Given the description of an element on the screen output the (x, y) to click on. 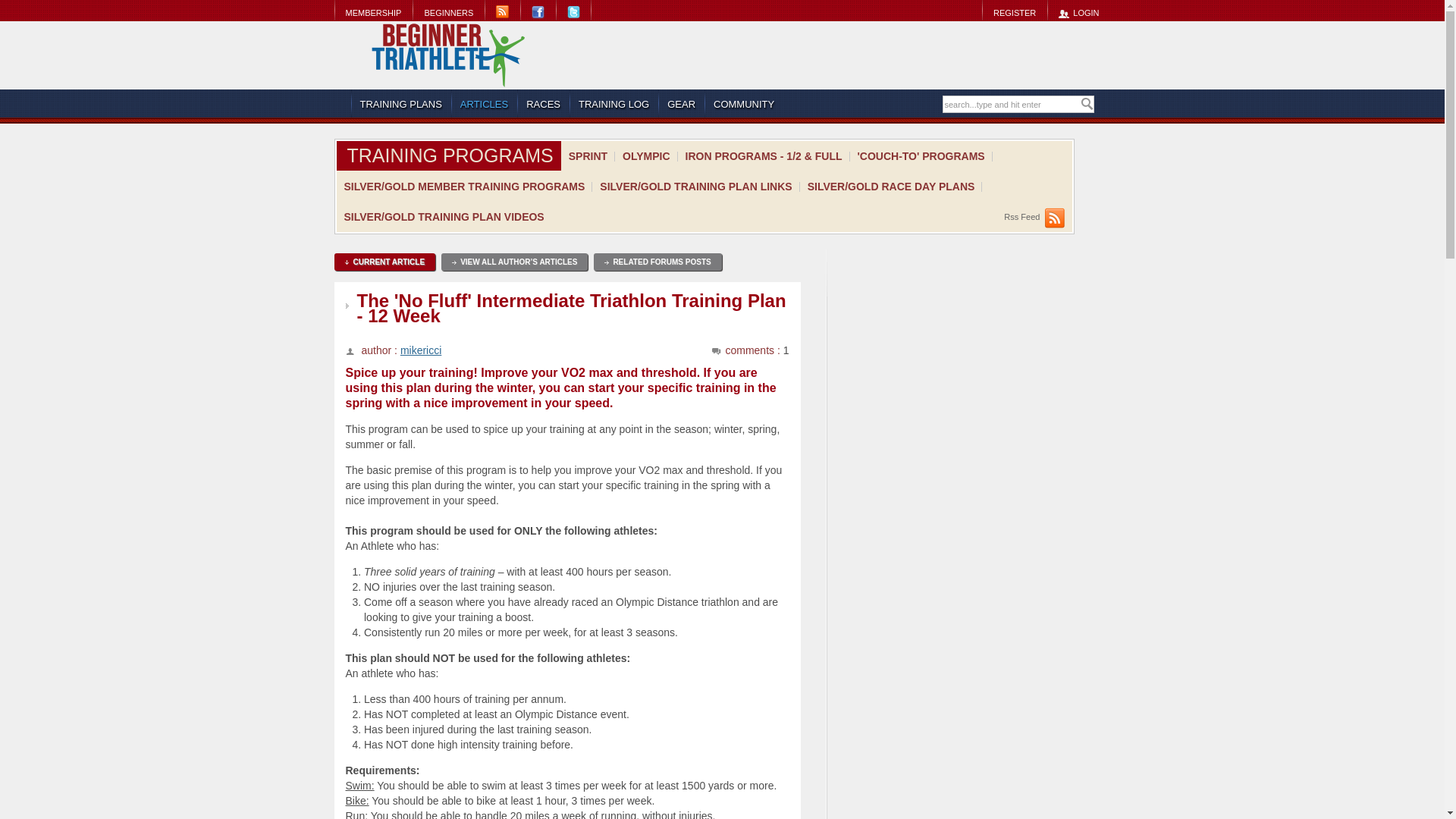
REGISTER (1013, 12)
search...type and hit enter (1010, 104)
MEMBERSHIP (372, 12)
ARTICLES (484, 104)
TRAINING PLANS (400, 104)
LOGIN (1077, 12)
BEGINNERS (448, 12)
RACES (542, 104)
TRAINING LOG (613, 104)
